Given the description of an element on the screen output the (x, y) to click on. 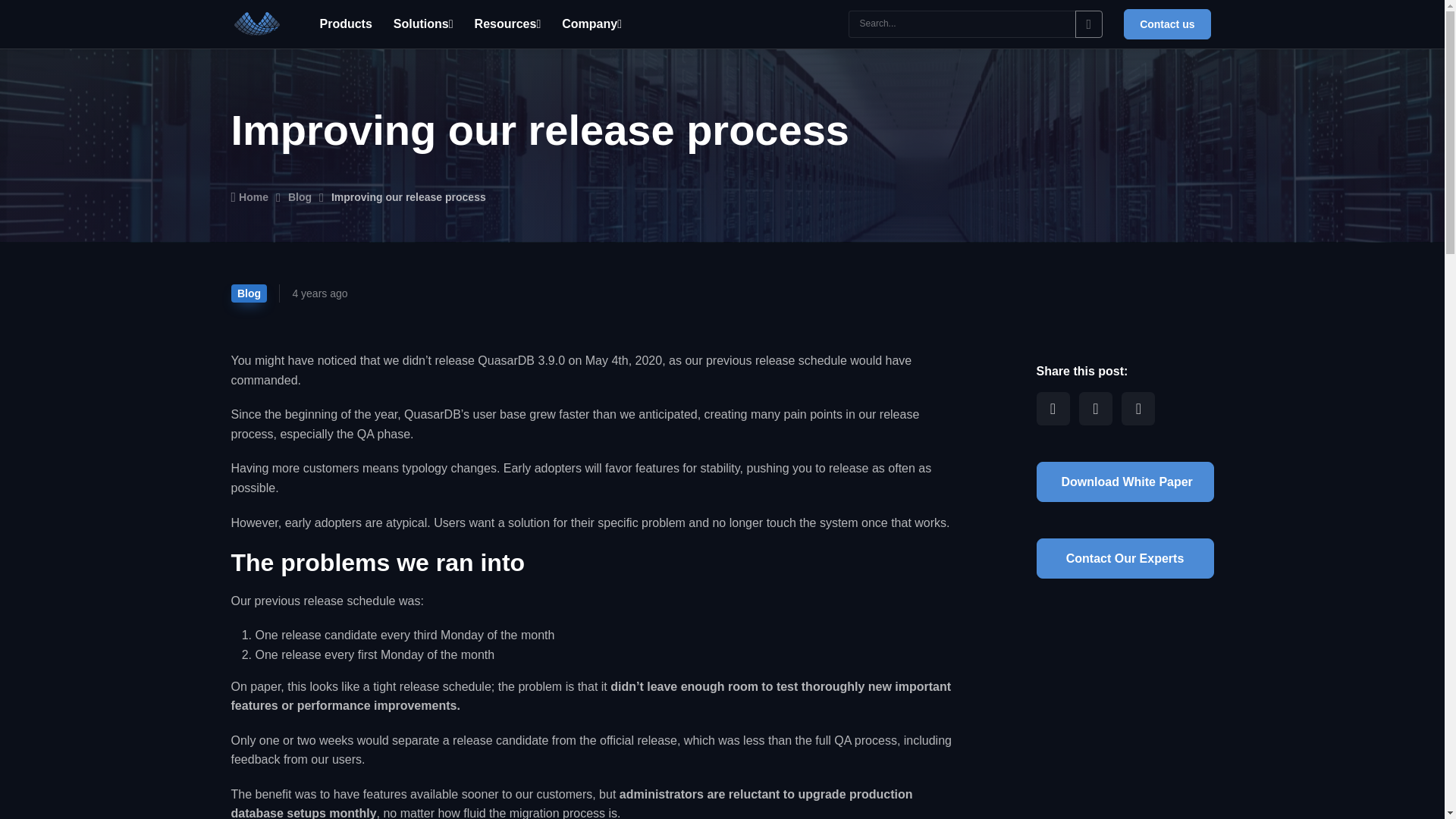
Home (248, 197)
Resources (507, 23)
Company (591, 23)
Download White Paper (1123, 481)
Solutions (423, 23)
Blog (299, 197)
Contact us (1166, 24)
Blog (248, 293)
Products (345, 23)
Contact Our Experts (1123, 558)
